Given the description of an element on the screen output the (x, y) to click on. 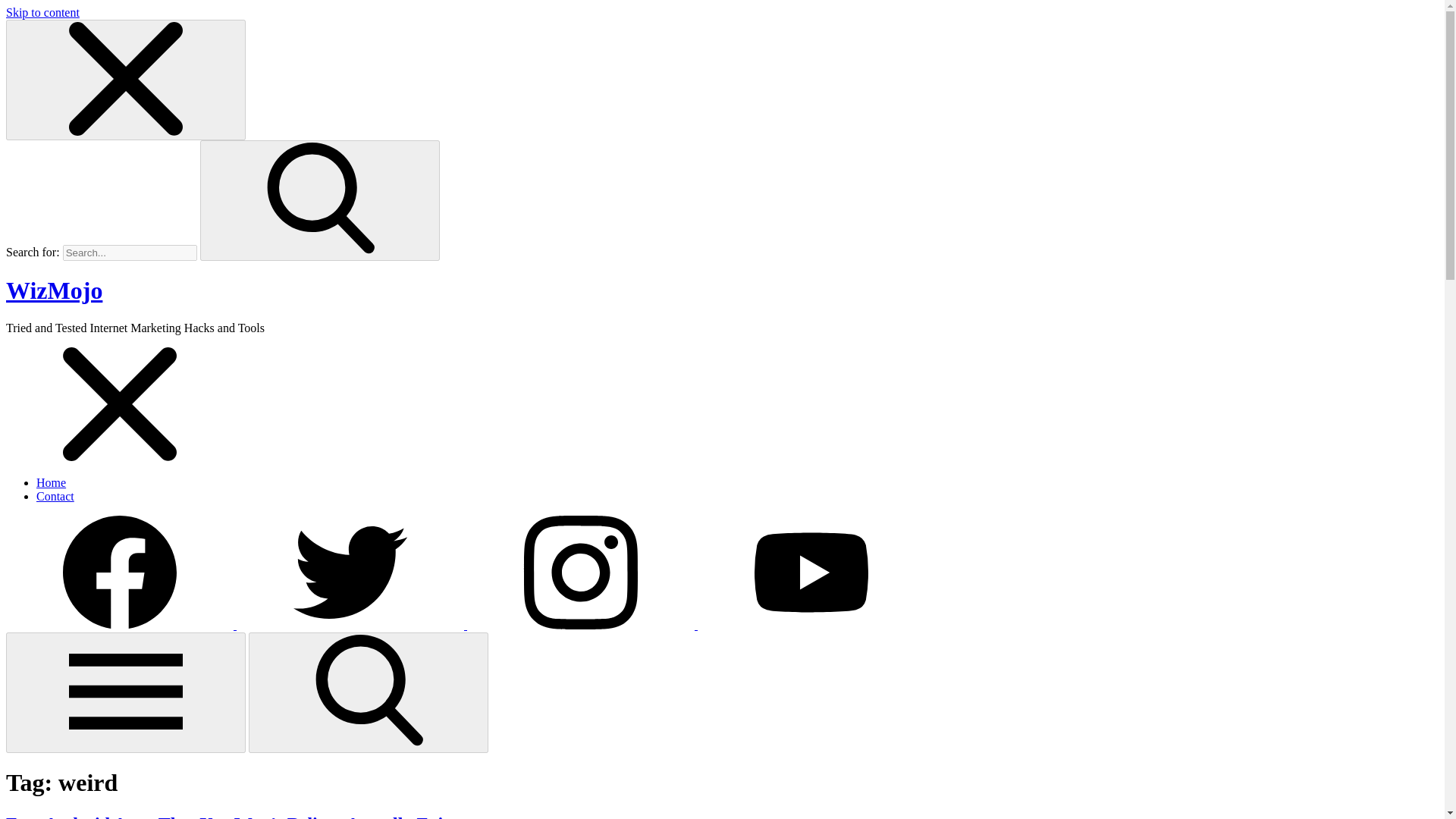
Contact (55, 495)
Home (50, 481)
WizMojo (53, 289)
Search (367, 692)
Skip to content (42, 11)
